Given the description of an element on the screen output the (x, y) to click on. 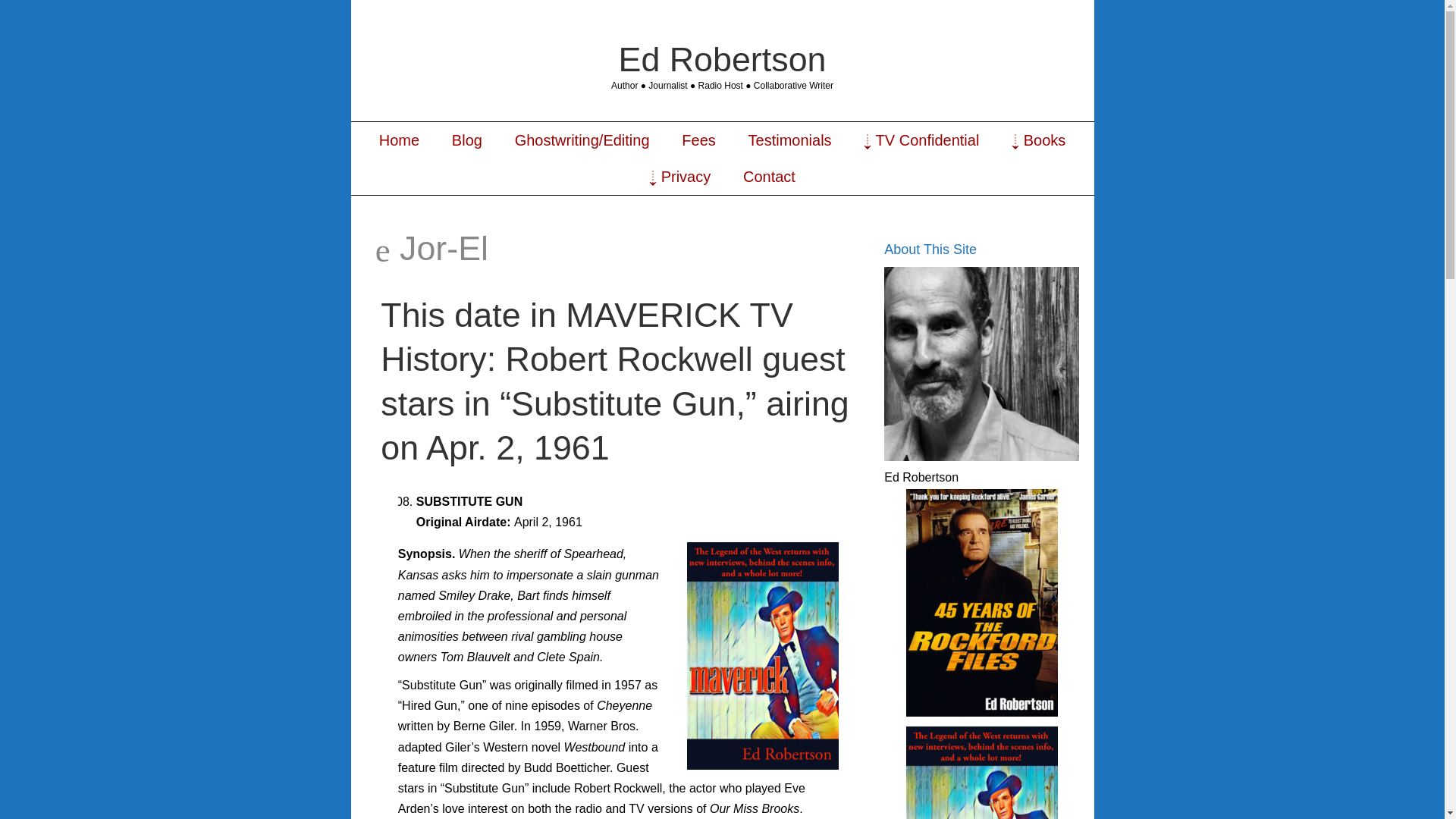
Blog (466, 140)
Home (398, 140)
Contact (768, 176)
Fees (697, 140)
Ed Robertson (722, 58)
Testimonials (789, 140)
